Given the description of an element on the screen output the (x, y) to click on. 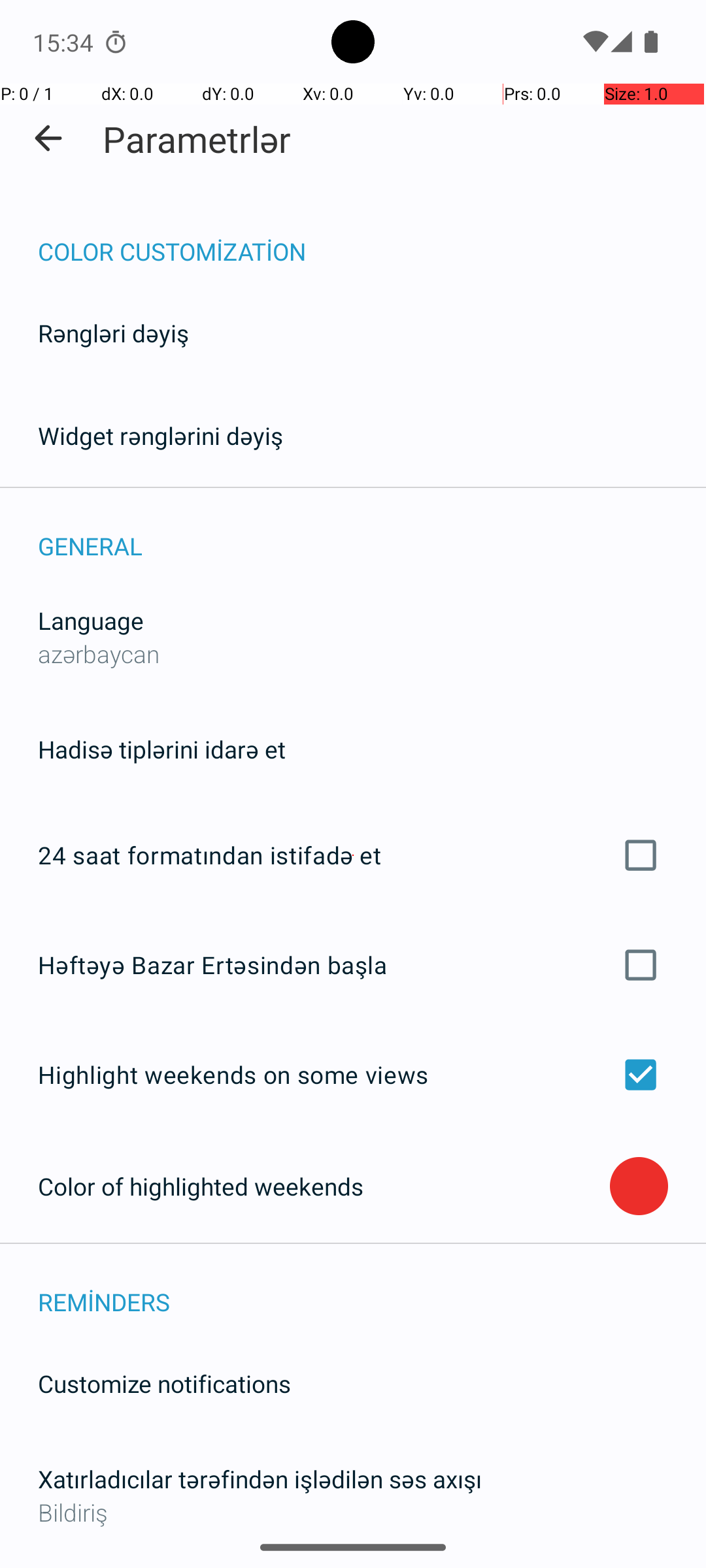
Parametrlər Element type: android.widget.TextView (196, 138)
COLOR CUSTOMİZATİON Element type: android.widget.TextView (371, 237)
REMİNDERS Element type: android.widget.TextView (371, 1287)
Rəngləri dəyiş Element type: android.widget.TextView (112, 332)
Widget rənglərini dəyiş Element type: android.widget.TextView (160, 435)
azərbaycan Element type: android.widget.TextView (98, 653)
Hadisə tiplərini idarə et Element type: android.widget.TextView (161, 748)
24 saat formatından istifadə et Element type: android.widget.CheckBox (352, 855)
Həftəyə Bazar Ertəsindən başla Element type: android.widget.CheckBox (352, 964)
Xatırladıcılar tərəfindən işlədilən səs axışı Element type: android.widget.TextView (259, 1478)
Bildiriş Element type: android.widget.TextView (352, 1511)
